Given the description of an element on the screen output the (x, y) to click on. 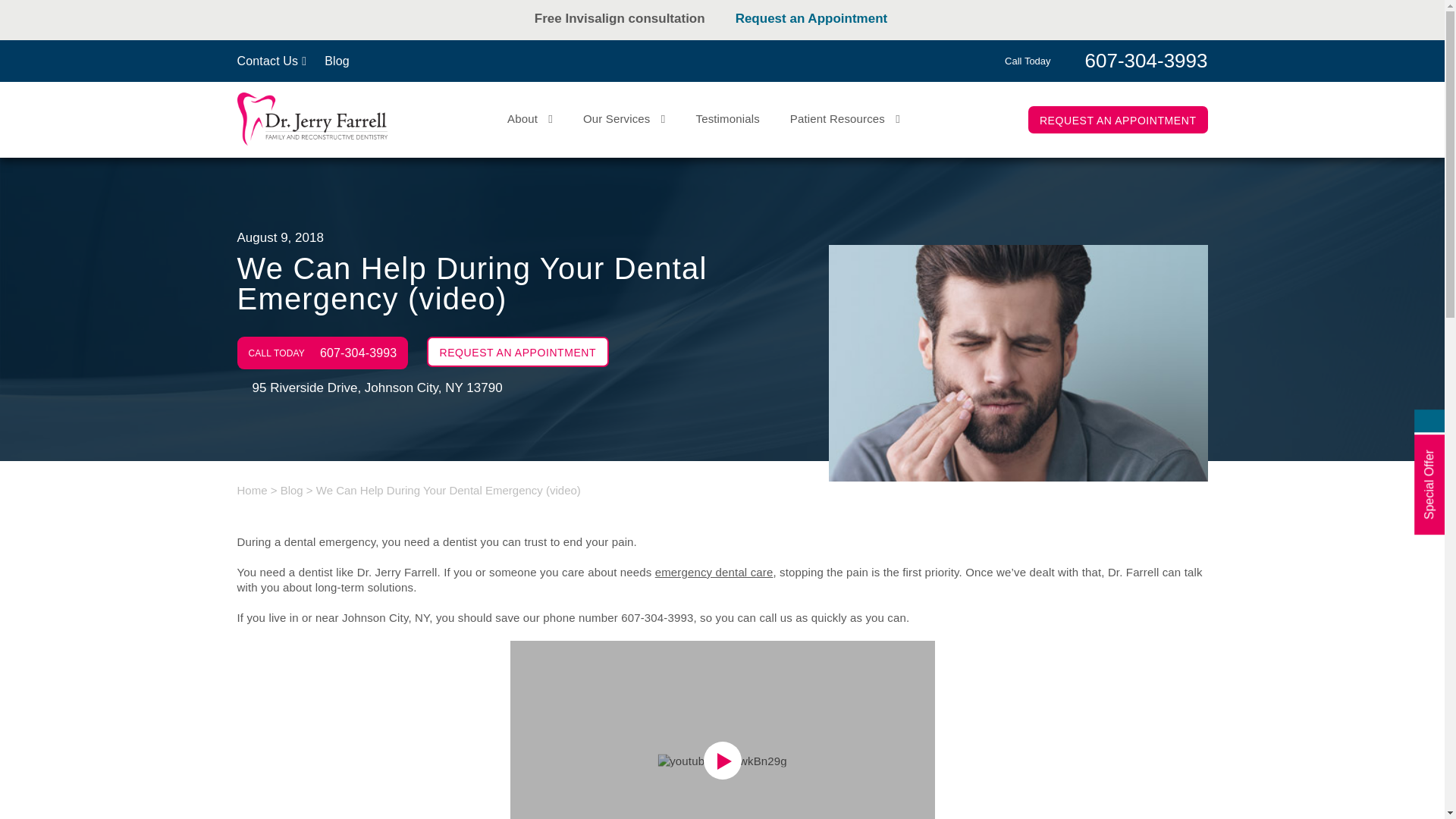
Free Invisalign consultation (627, 18)
Request an Appointment (823, 18)
Contact Us (270, 60)
Smile evaluation complete with digital X-rays (627, 33)
Request an Appointment (874, 33)
Our Services (624, 118)
Call Today607-304-3993 (1105, 59)
Blog (336, 60)
